Given the description of an element on the screen output the (x, y) to click on. 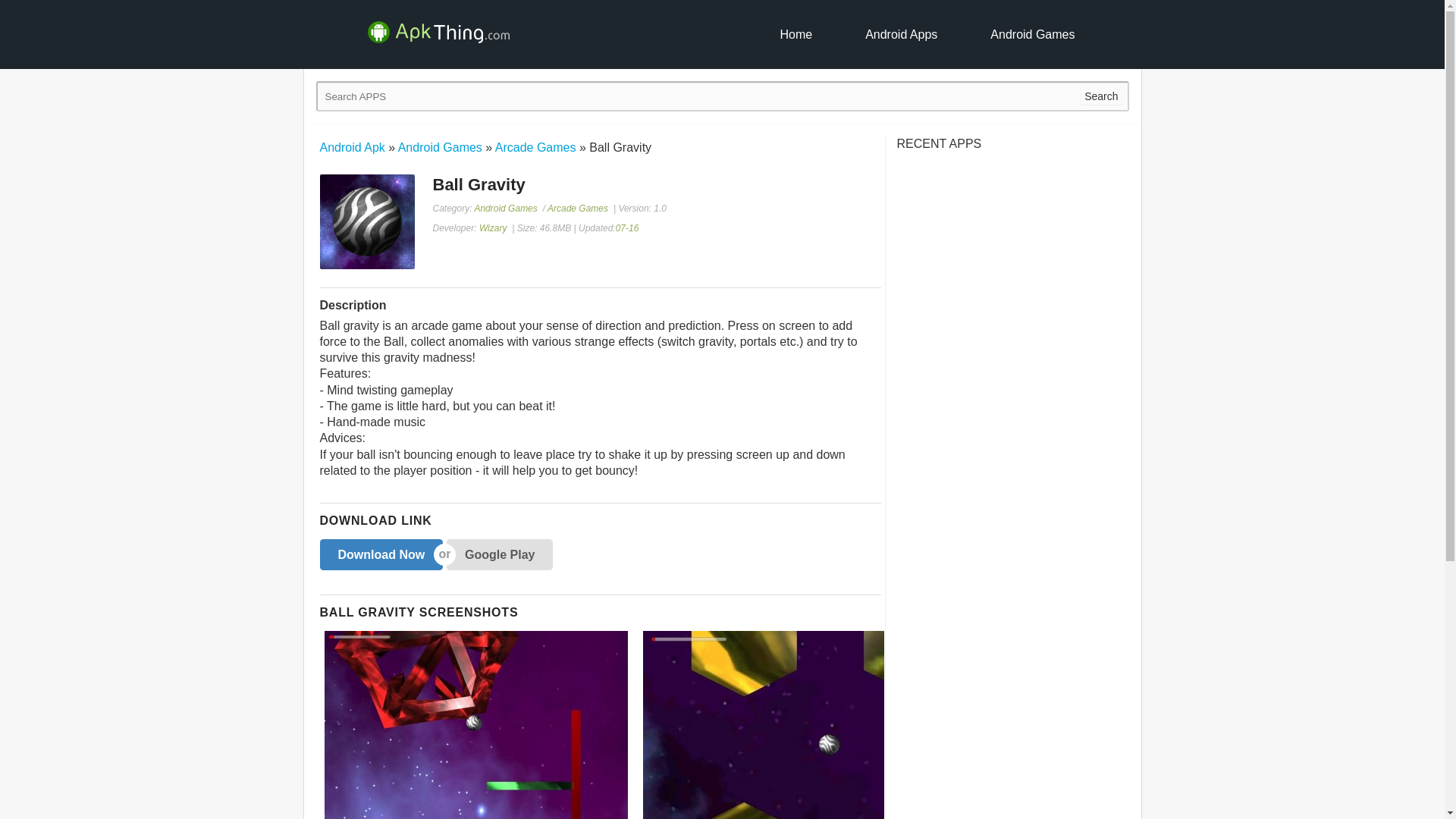
Arcade Games (577, 208)
Ball Gravity (1152, 724)
Android Apk (352, 146)
Android Games (1031, 34)
Search (1100, 95)
Android Games (505, 208)
Search APPS (1100, 95)
Ball Gravity (811, 724)
Arcade Games (535, 146)
Home (795, 34)
